Given the description of an element on the screen output the (x, y) to click on. 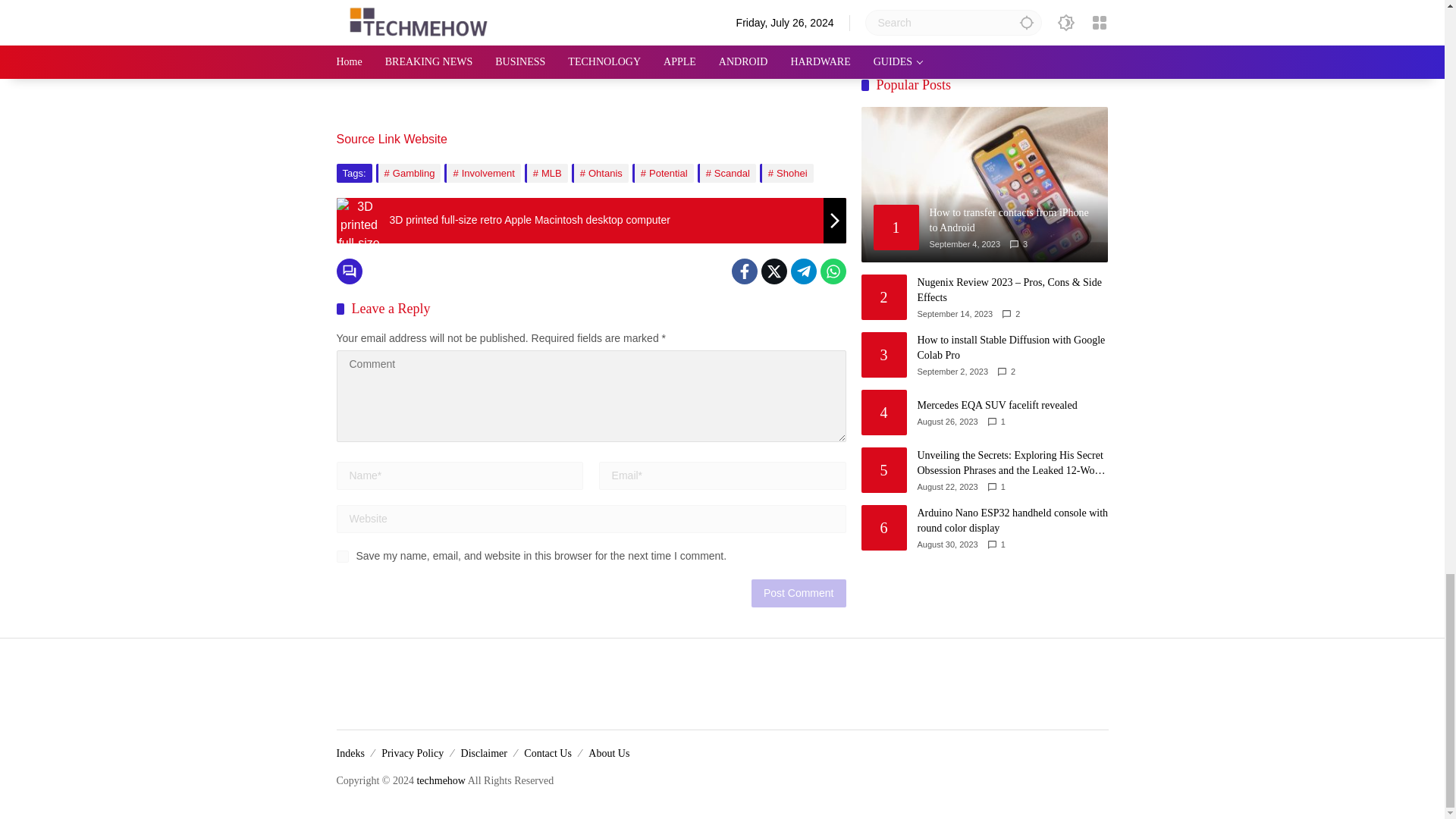
Facebook (743, 271)
yes (342, 556)
3D printed full-size retro Apple Macintosh desktop computer (590, 220)
3D printed full-size retro Apple Macintosh desktop computer (358, 289)
Post Comment (798, 593)
